Given the description of an element on the screen output the (x, y) to click on. 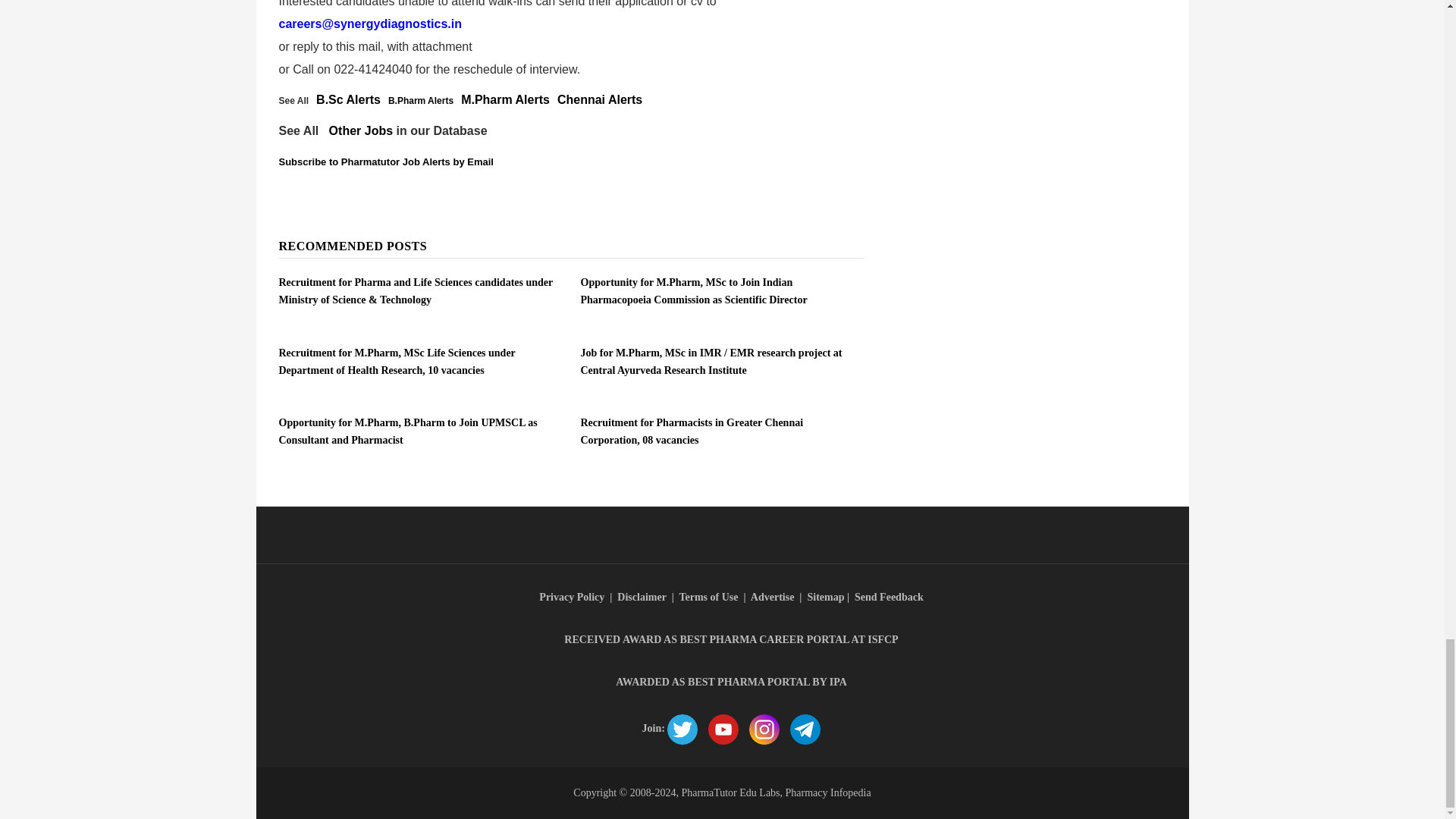
Advertisement (571, 9)
